Given the description of an element on the screen output the (x, y) to click on. 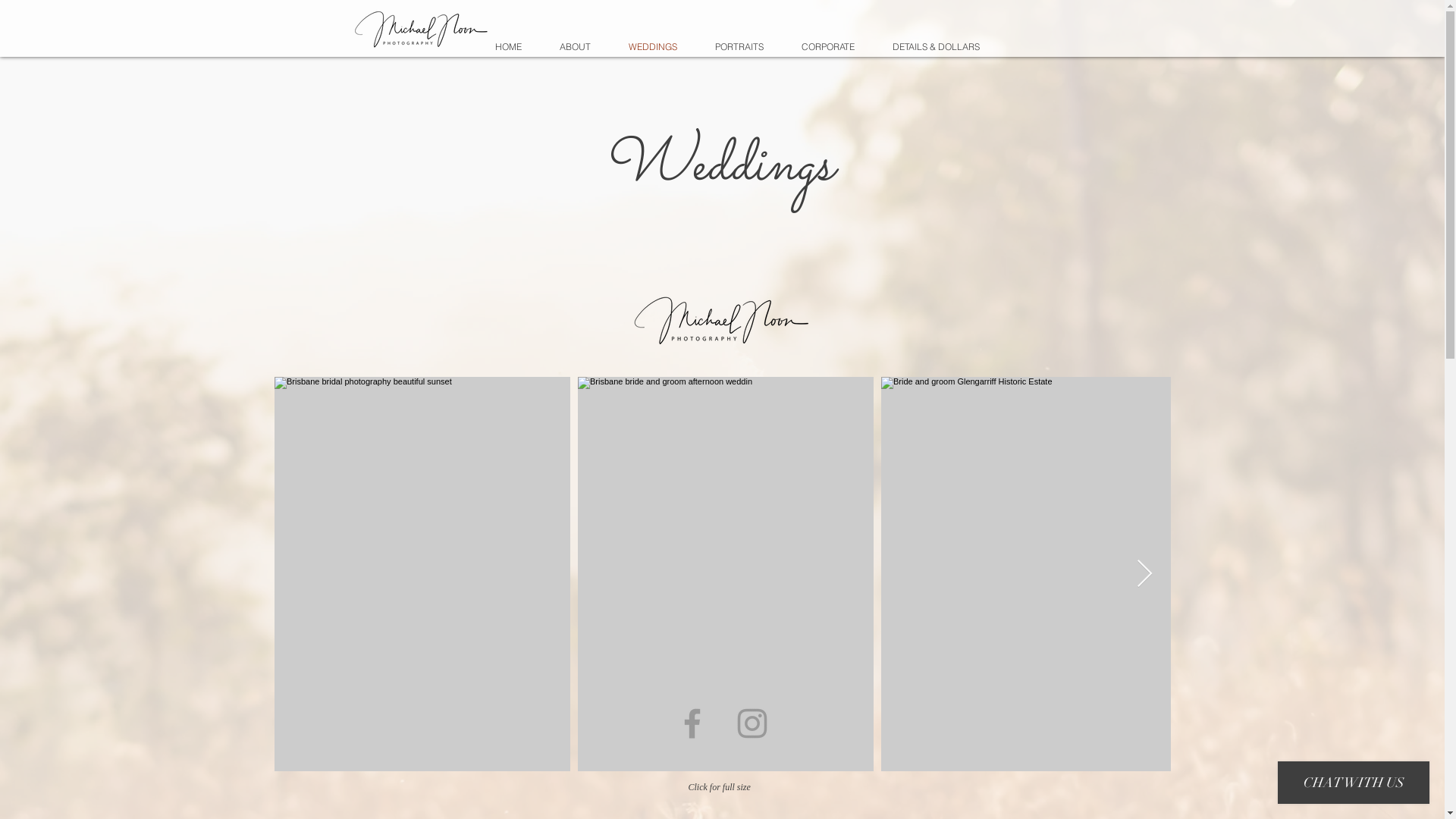
CORPORATE Element type: text (827, 46)
ABOUT Element type: text (573, 46)
HOME Element type: text (508, 46)
DETAILS & DOLLARS Element type: text (935, 46)
PORTRAITS Element type: text (739, 46)
WEDDINGS Element type: text (652, 46)
